Given the description of an element on the screen output the (x, y) to click on. 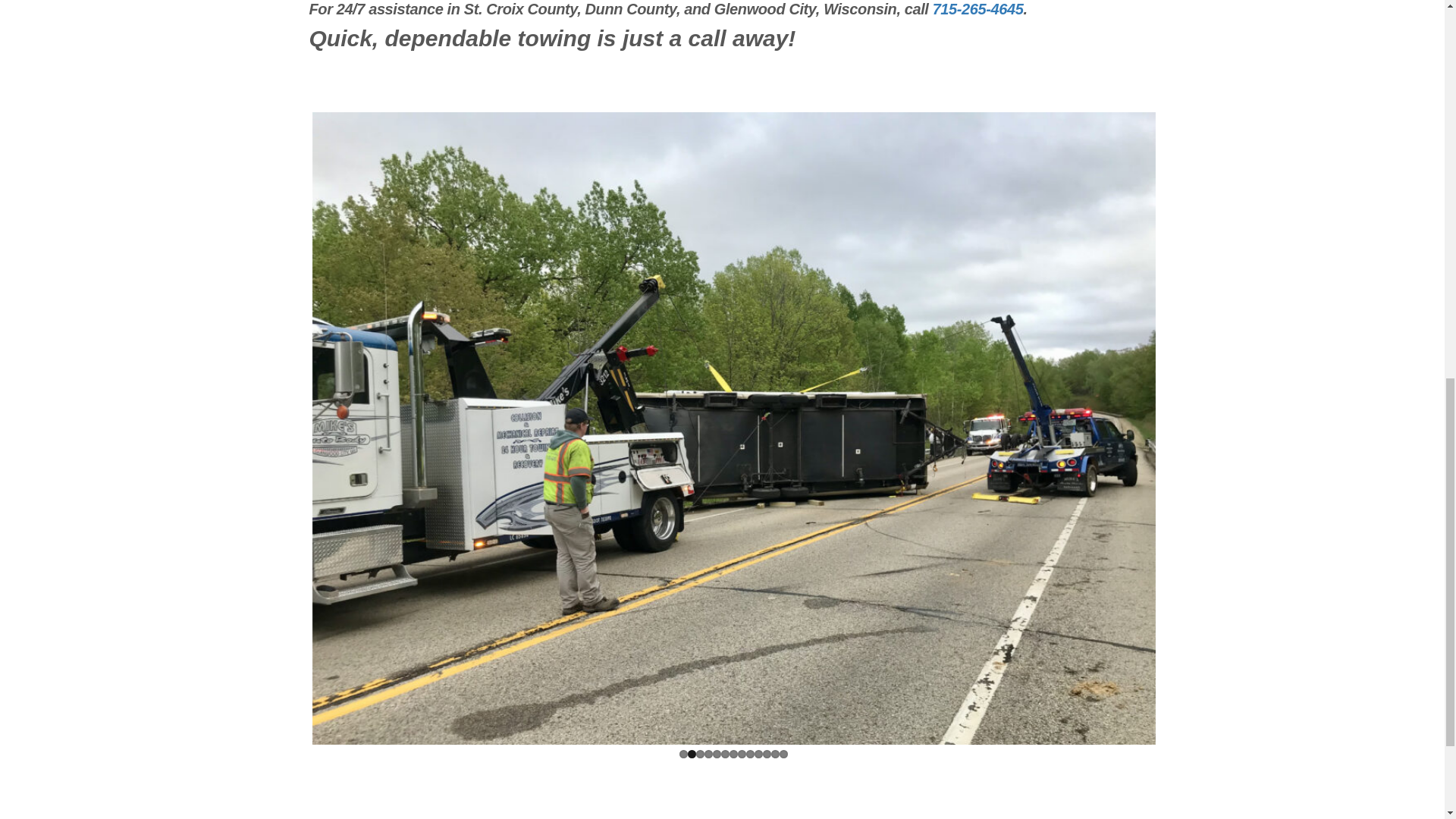
715-265-4645 (978, 8)
11 (766, 754)
3 (699, 754)
1 (683, 754)
8 (741, 754)
10 (758, 754)
2 (691, 754)
13 (782, 754)
9 (749, 754)
6 (724, 754)
12 (774, 754)
7 (733, 754)
5 (716, 754)
4 (708, 754)
